Given the description of an element on the screen output the (x, y) to click on. 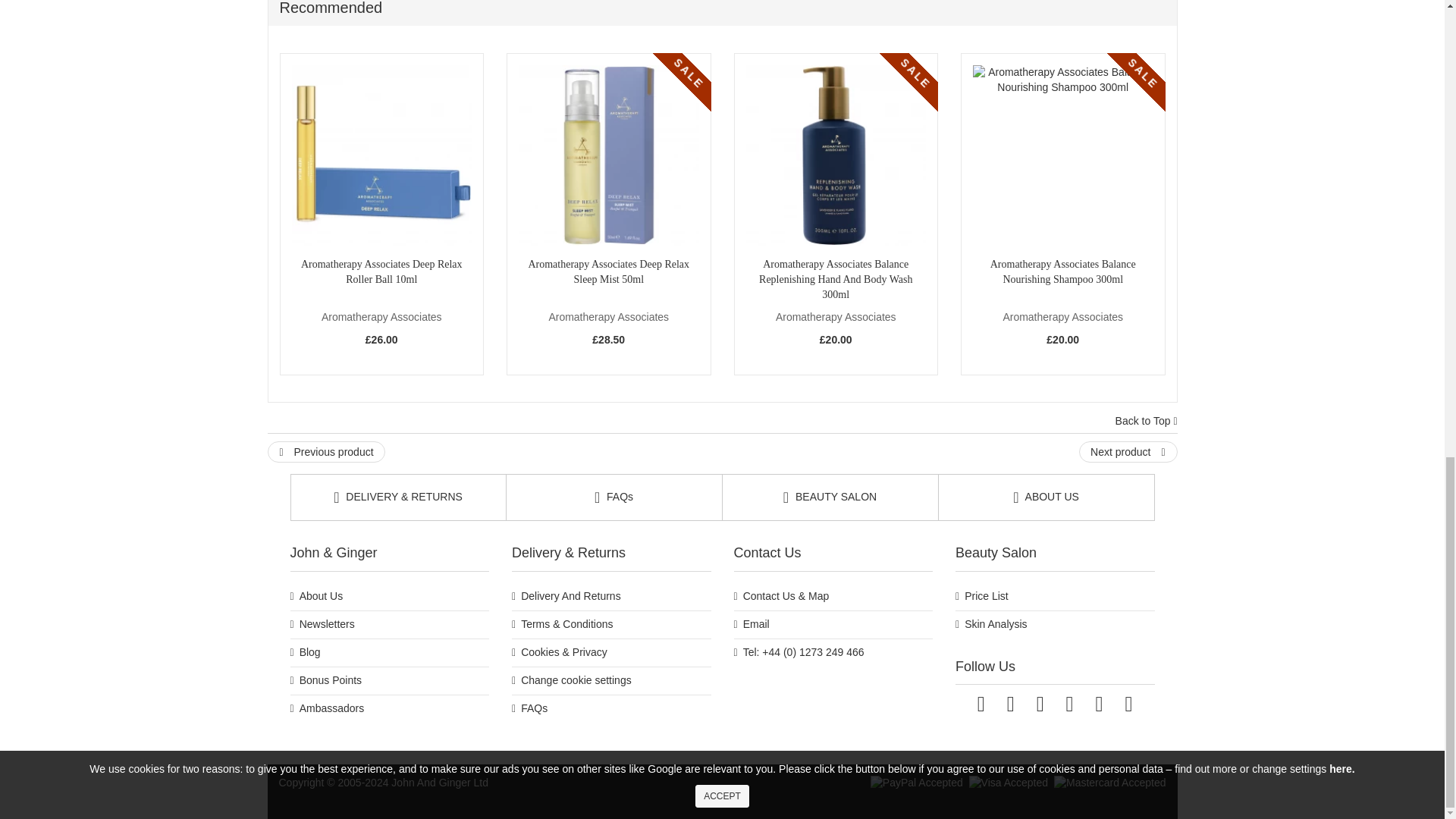
Aromatherapy Associates Deep Relax Sleep Mist 50ml (608, 155)
Back to Top (1146, 421)
Aromatherapy Associates Deep Relax Roller Ball 10ml (381, 155)
Aromatherapy Associates Balance Nourishing Shampoo 300ml (1062, 155)
